Given the description of an element on the screen output the (x, y) to click on. 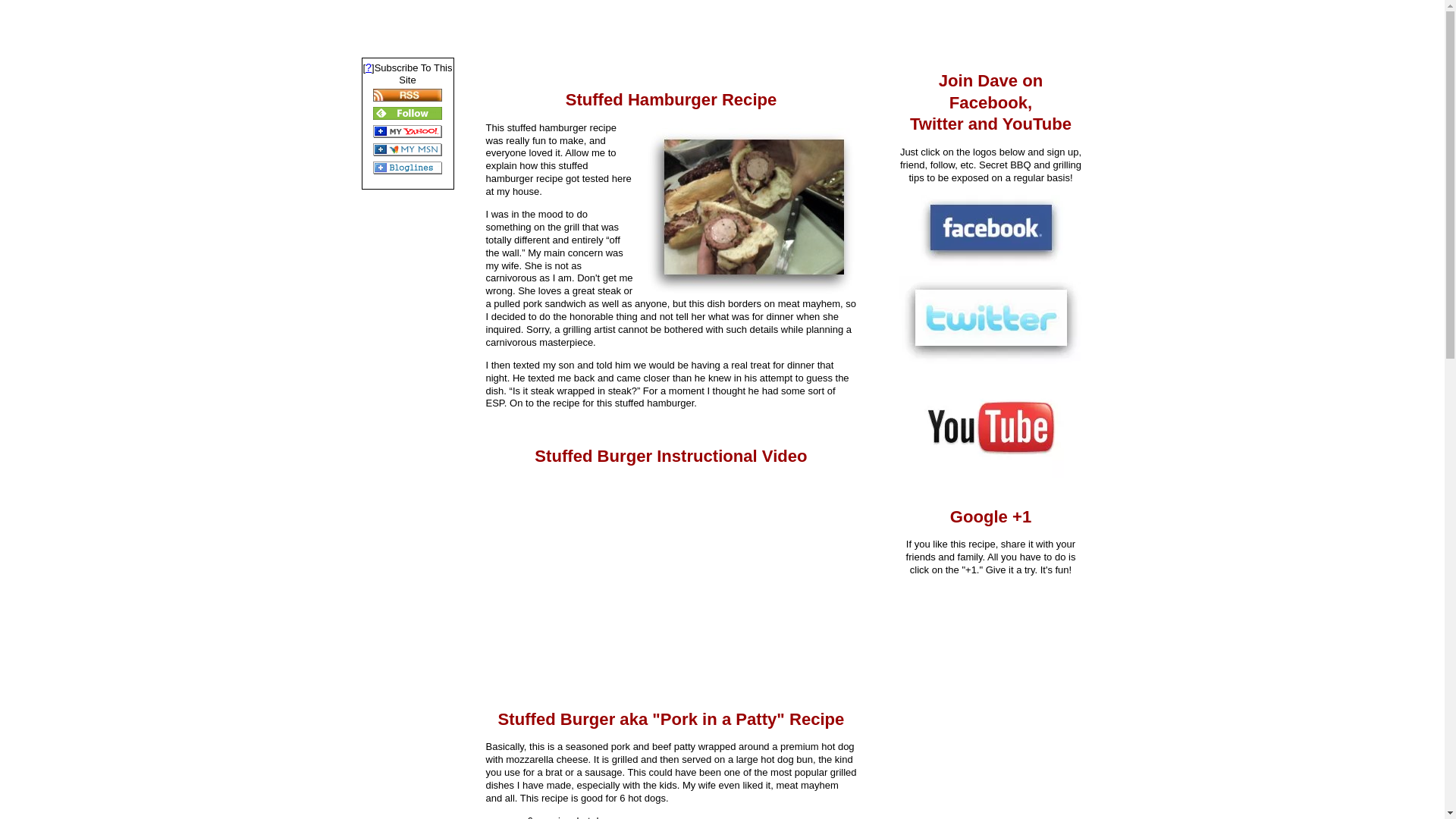
BBQ Festivals (407, 302)
Click For Cash (407, 500)
Questions for Dave (407, 263)
Grilling Vegetables (407, 401)
BBQ Newsletter (407, 224)
Gift Ideas (407, 519)
Fish and Seafood (407, 382)
Barbecue Rubs (407, 441)
Beef (407, 322)
Side Dishes (407, 460)
